Given the description of an element on the screen output the (x, y) to click on. 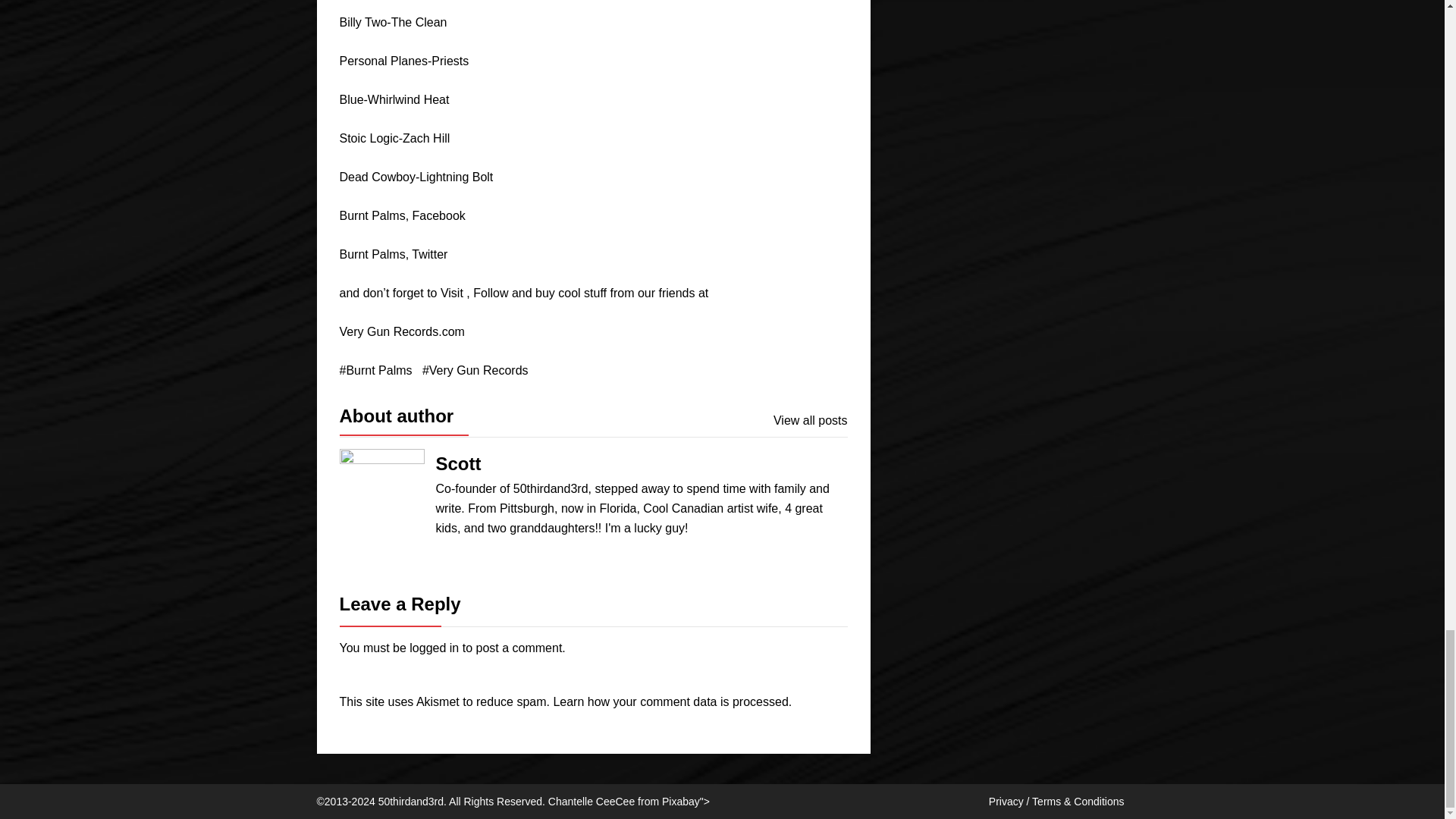
Learn how your comment data is processed (670, 701)
Burnt Palms, Twitter (393, 254)
View all posts (810, 420)
Very Gun Records.com (401, 331)
logged in (433, 647)
Very Gun Records (475, 370)
Burnt Palms (375, 370)
Burnt Palms, Facebook (402, 215)
